Given the description of an element on the screen output the (x, y) to click on. 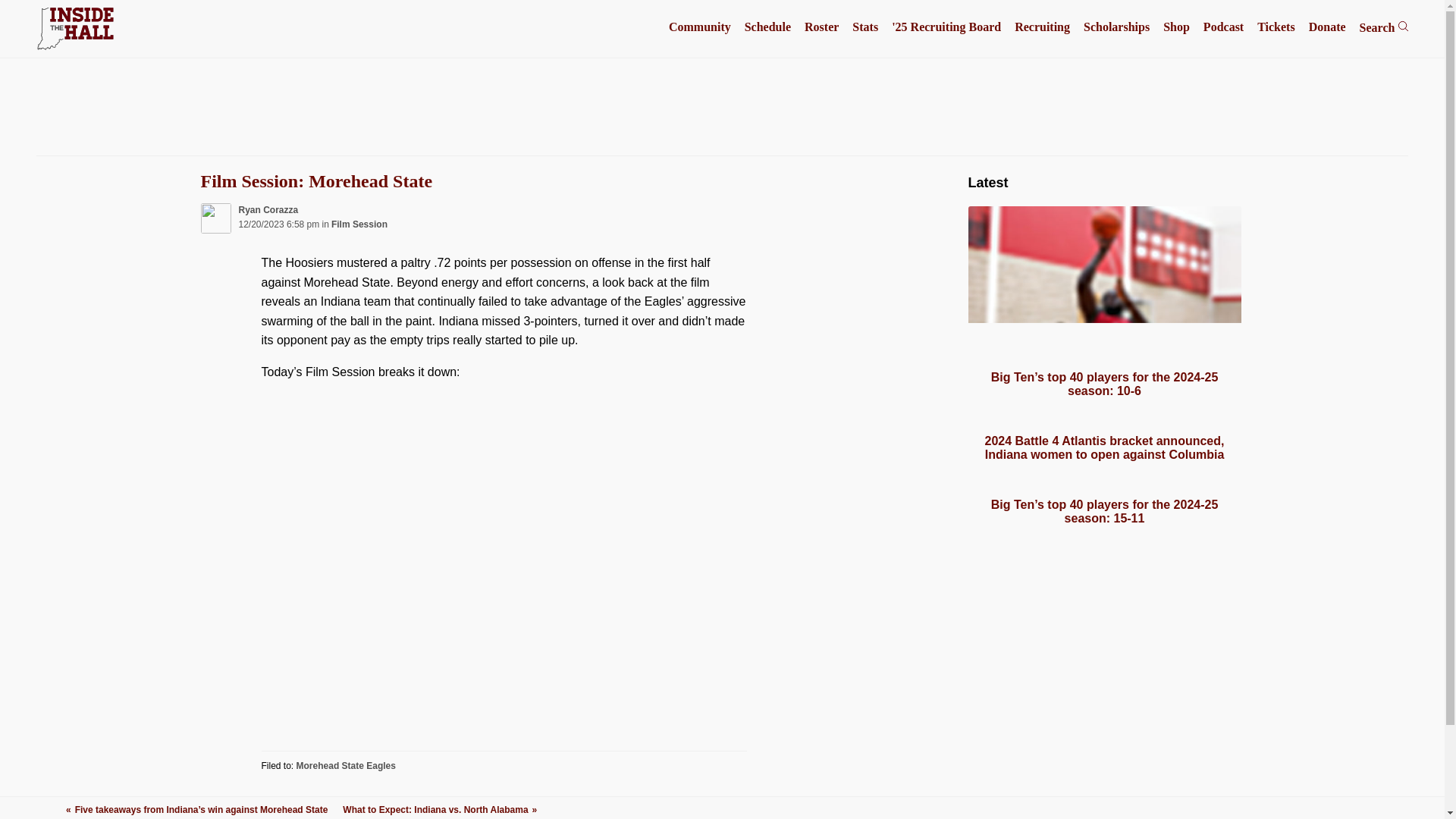
Community (699, 26)
Podcast (1223, 26)
Roster (821, 26)
Recruiting (1042, 26)
Stats (864, 26)
Posts by Ryan Corazza (268, 209)
search (1402, 25)
Morehead State Eagles (346, 765)
